Given the description of an element on the screen output the (x, y) to click on. 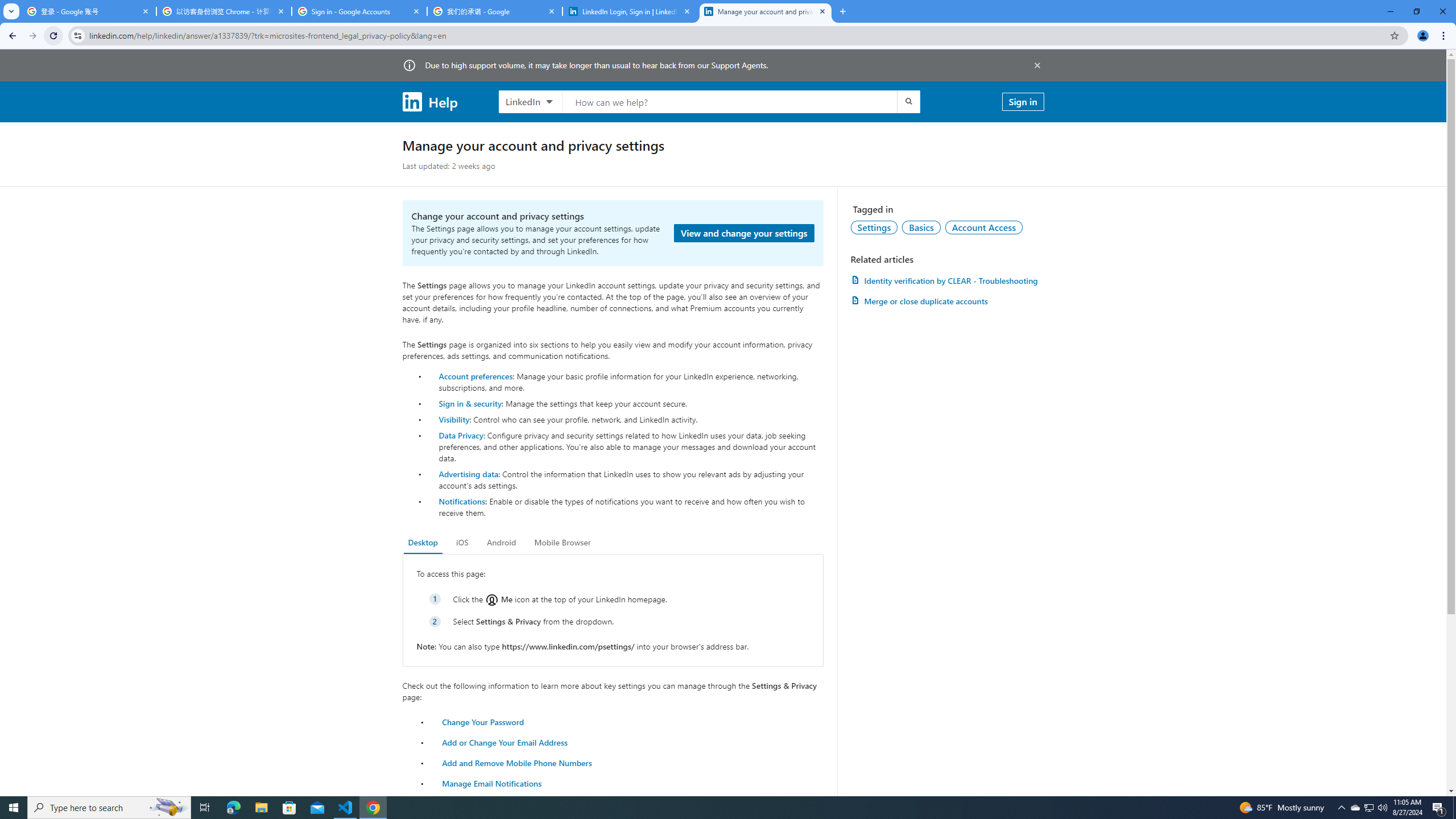
Submit search (908, 101)
AutomationID: article-link-a1337200 (946, 300)
Notifications (461, 500)
Add or Change Your Email Address (504, 741)
Identity verification by CLEAR - Troubleshooting (946, 280)
Visibility (454, 419)
LinkedIn Login, Sign in | LinkedIn (630, 11)
Advertising data (468, 473)
